Given the description of an element on the screen output the (x, y) to click on. 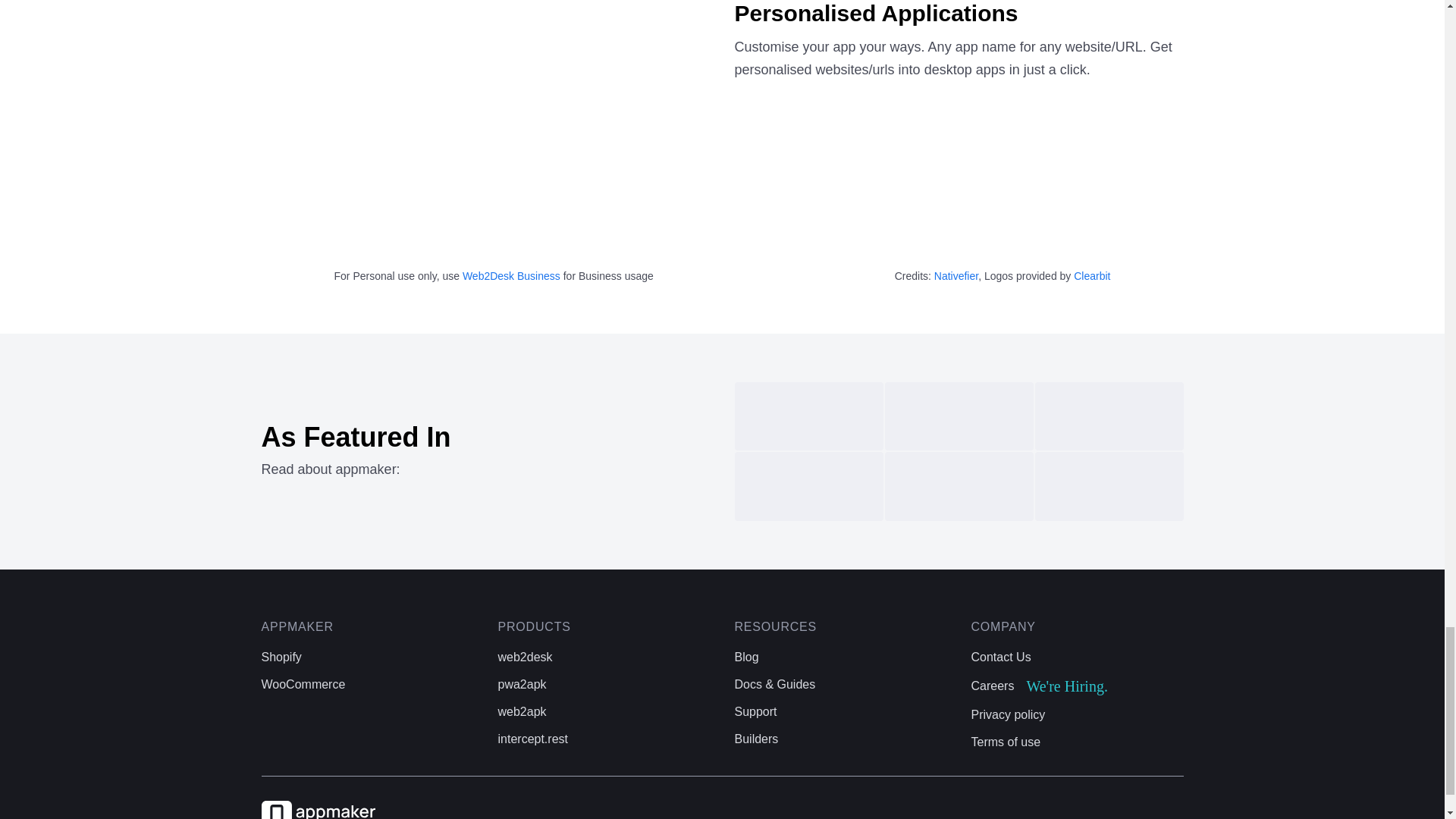
Support (754, 711)
WooCommerce (302, 684)
Privacy policy (1008, 714)
Nativefier (956, 275)
Clearbit (1091, 275)
Terms of use (1006, 742)
intercept.rest (532, 739)
Builders (1038, 685)
Blog (755, 739)
Shopify (745, 657)
web2apk (280, 657)
Contact Us (521, 711)
Web2Desk Business (1000, 657)
web2desk (511, 275)
